Given the description of an element on the screen output the (x, y) to click on. 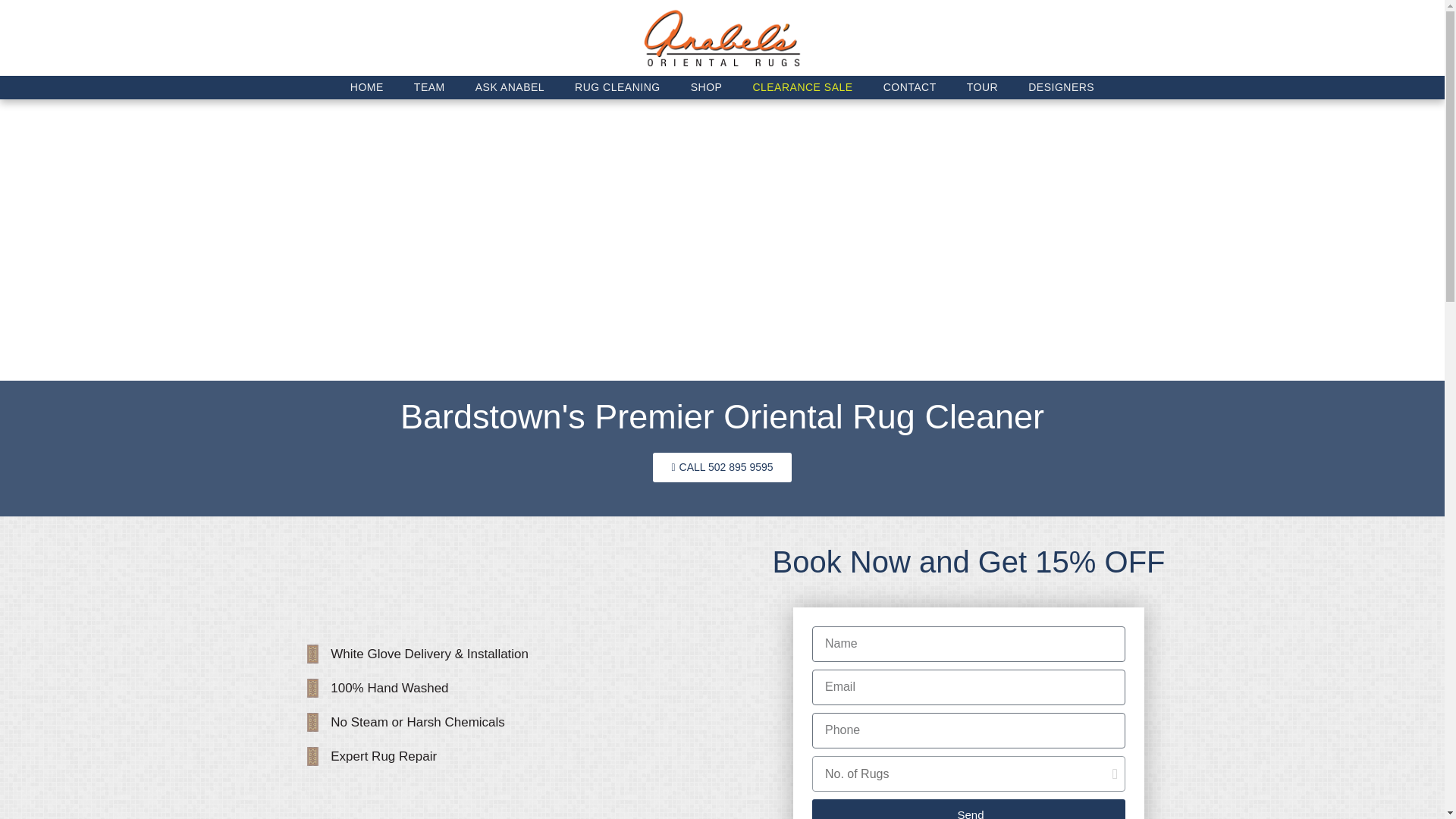
CLEARANCE SALE (801, 87)
TOUR (982, 87)
CONTACT (909, 87)
ASK ANABEL (509, 87)
TEAM (429, 87)
DESIGNERS (1061, 87)
HOME (366, 87)
SHOP (706, 87)
RUG CLEANING (617, 87)
